Given the description of an element on the screen output the (x, y) to click on. 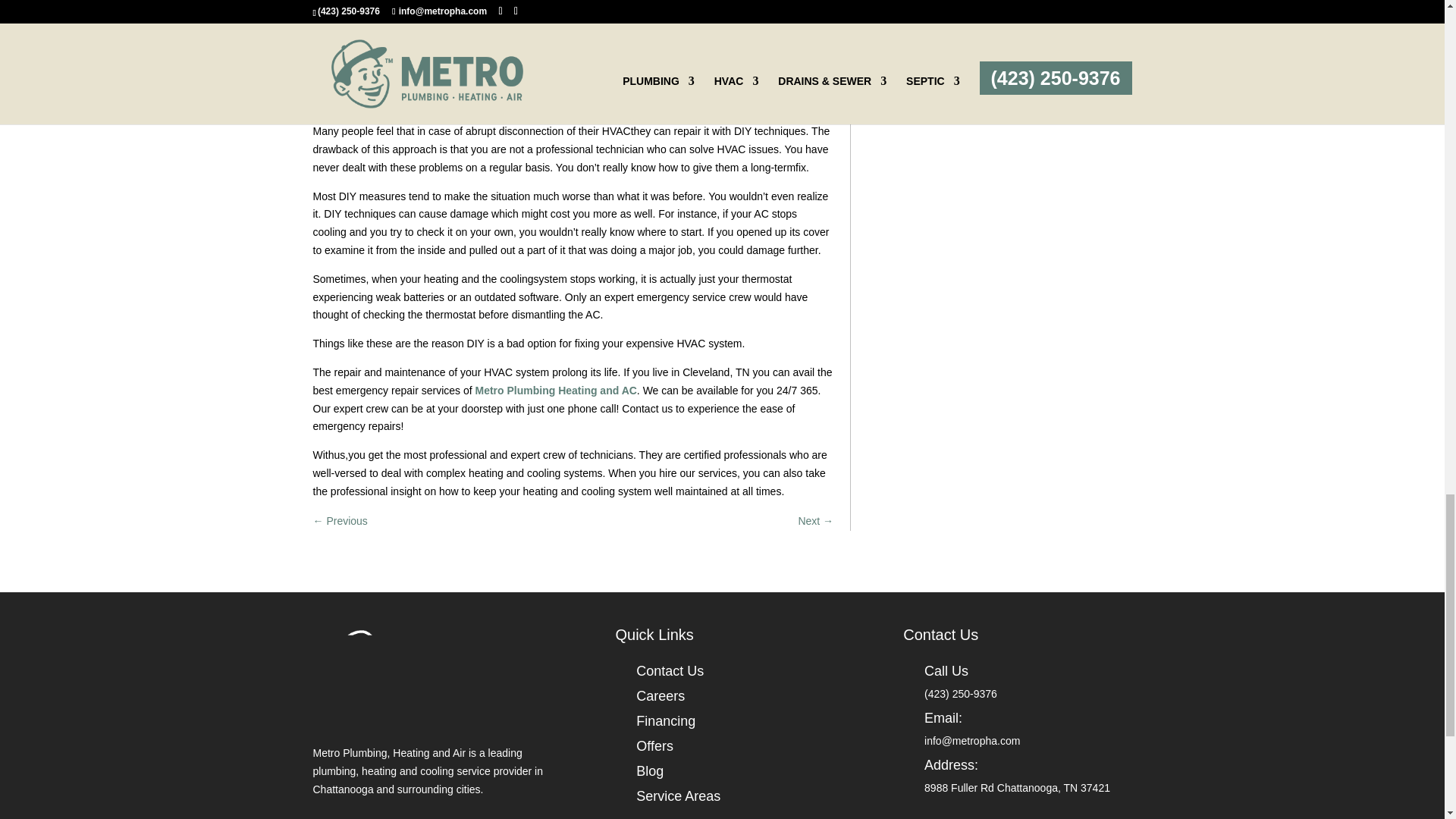
Metropha White Logo (433, 667)
